Given the description of an element on the screen output the (x, y) to click on. 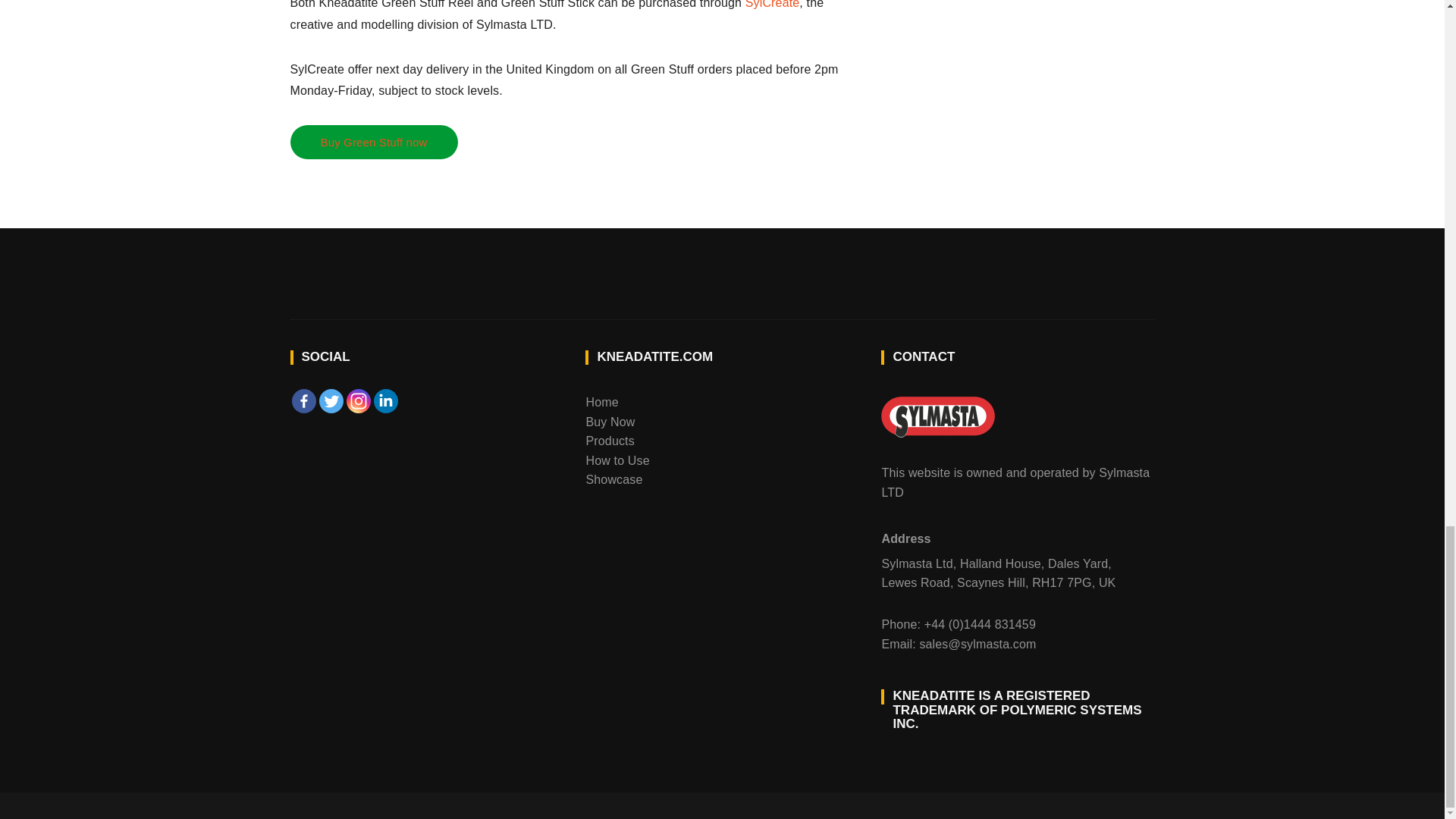
Showcase (613, 479)
Linkedin Company (384, 401)
Instagram (357, 401)
Home (601, 401)
Facebook (303, 401)
Twitter (330, 401)
Products (609, 440)
Buy Green Stuff now (373, 141)
How to Use (617, 460)
Buy Now (609, 421)
SylCreate (772, 4)
